Given the description of an element on the screen output the (x, y) to click on. 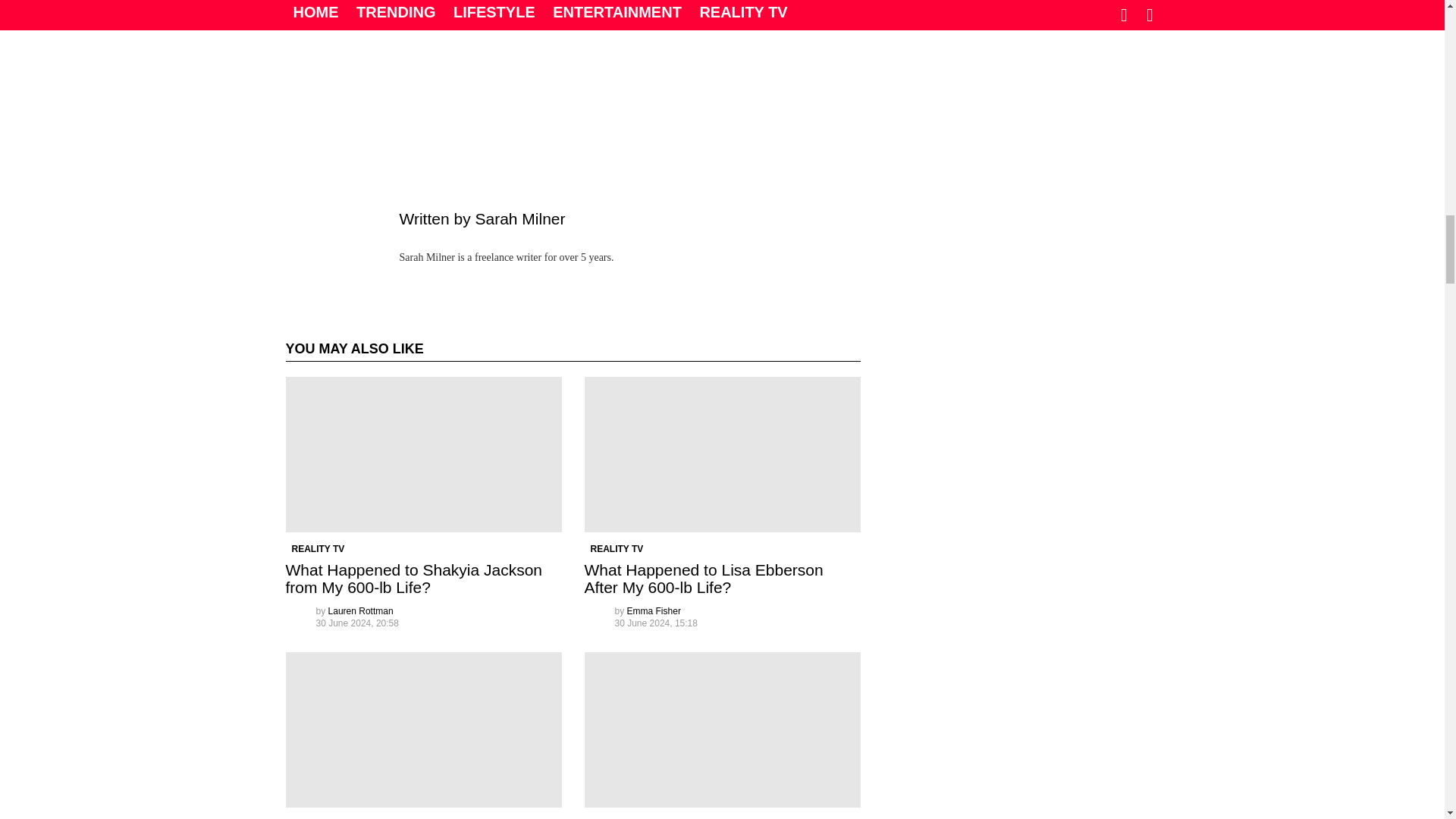
Sarah Milner (519, 218)
What Happened to Lisa Ebberson After My 600-lb Life? (721, 454)
REALITY TV (616, 548)
Lauren Rottman (361, 611)
What Happened to Lisa Ebberson After My 600-lb Life? (702, 578)
What Is JT Clark Up To After My 600-lb Life? (422, 729)
What Happened to Shakyia Jackson from My 600-lb Life? (413, 578)
Emma Fisher (654, 611)
Posts by Emma Fisher (654, 611)
Posts by Lauren Rottman (361, 611)
